Given the description of an element on the screen output the (x, y) to click on. 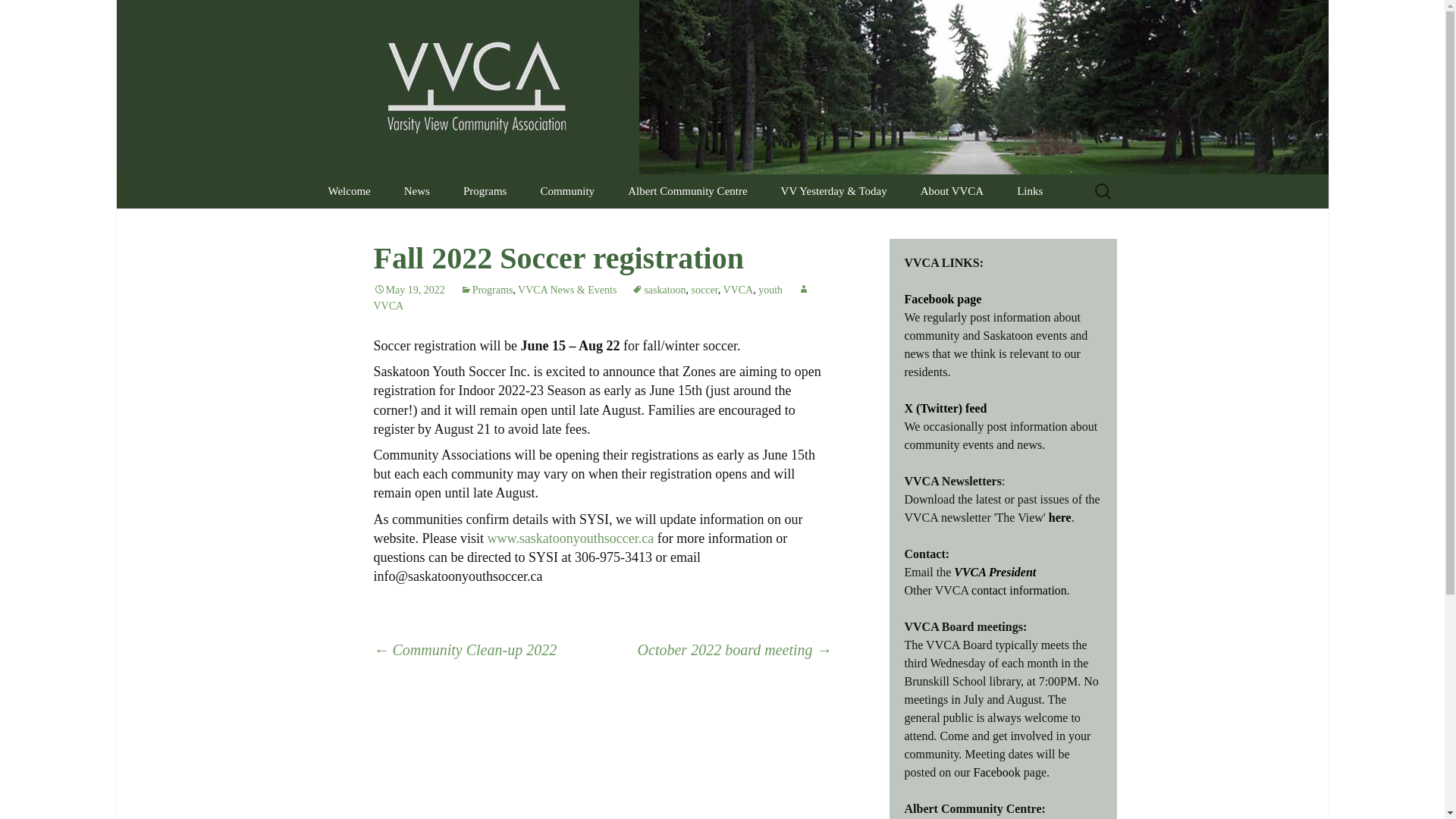
News (416, 191)
General History (841, 225)
Welcome (349, 191)
Programs Info (523, 225)
Programs (485, 191)
Permalink to Fall 2022 Soccer registration (408, 289)
Highrise at College and Clarence (600, 230)
General Information (688, 225)
VVCA News (464, 225)
